Given the description of an element on the screen output the (x, y) to click on. 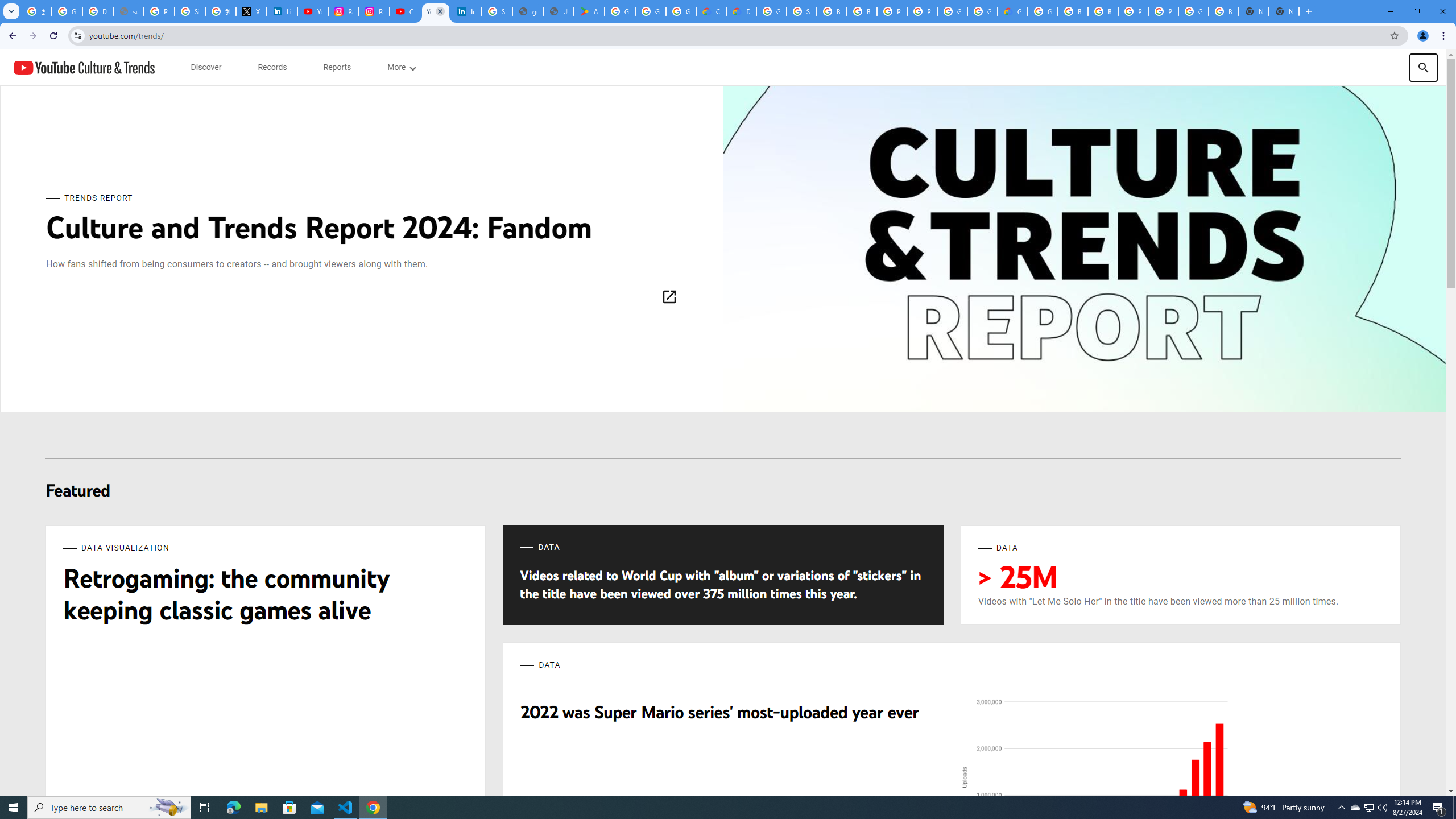
LinkedIn Privacy Policy (282, 11)
subnav-More menupopup (400, 67)
subnav-Discover menupopup (205, 67)
Customer Care | Google Cloud (710, 11)
Google Cloud Platform (1193, 11)
JUMP TO CONTENT (118, 67)
